Given the description of an element on the screen output the (x, y) to click on. 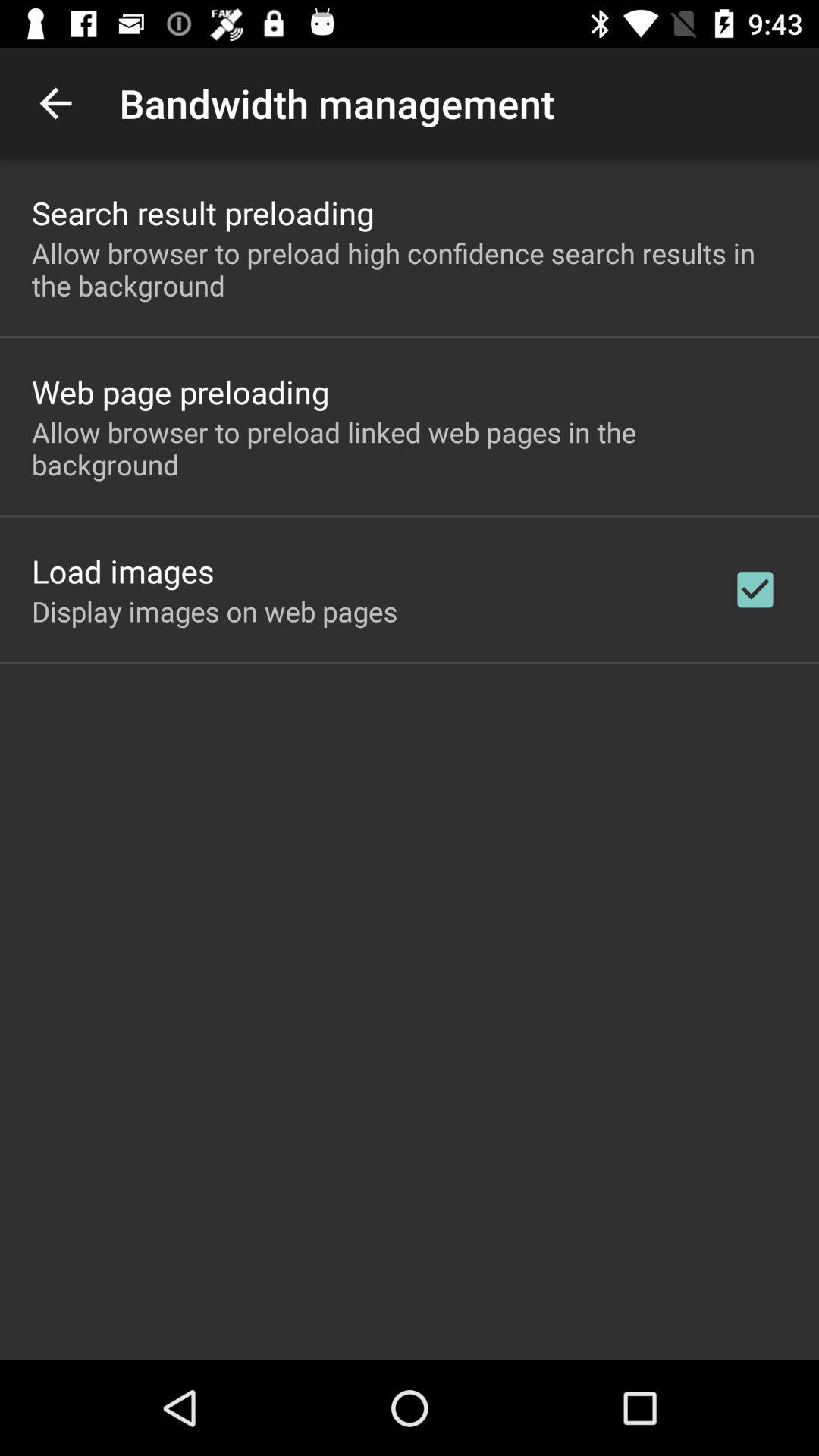
turn on load images (122, 570)
